Given the description of an element on the screen output the (x, y) to click on. 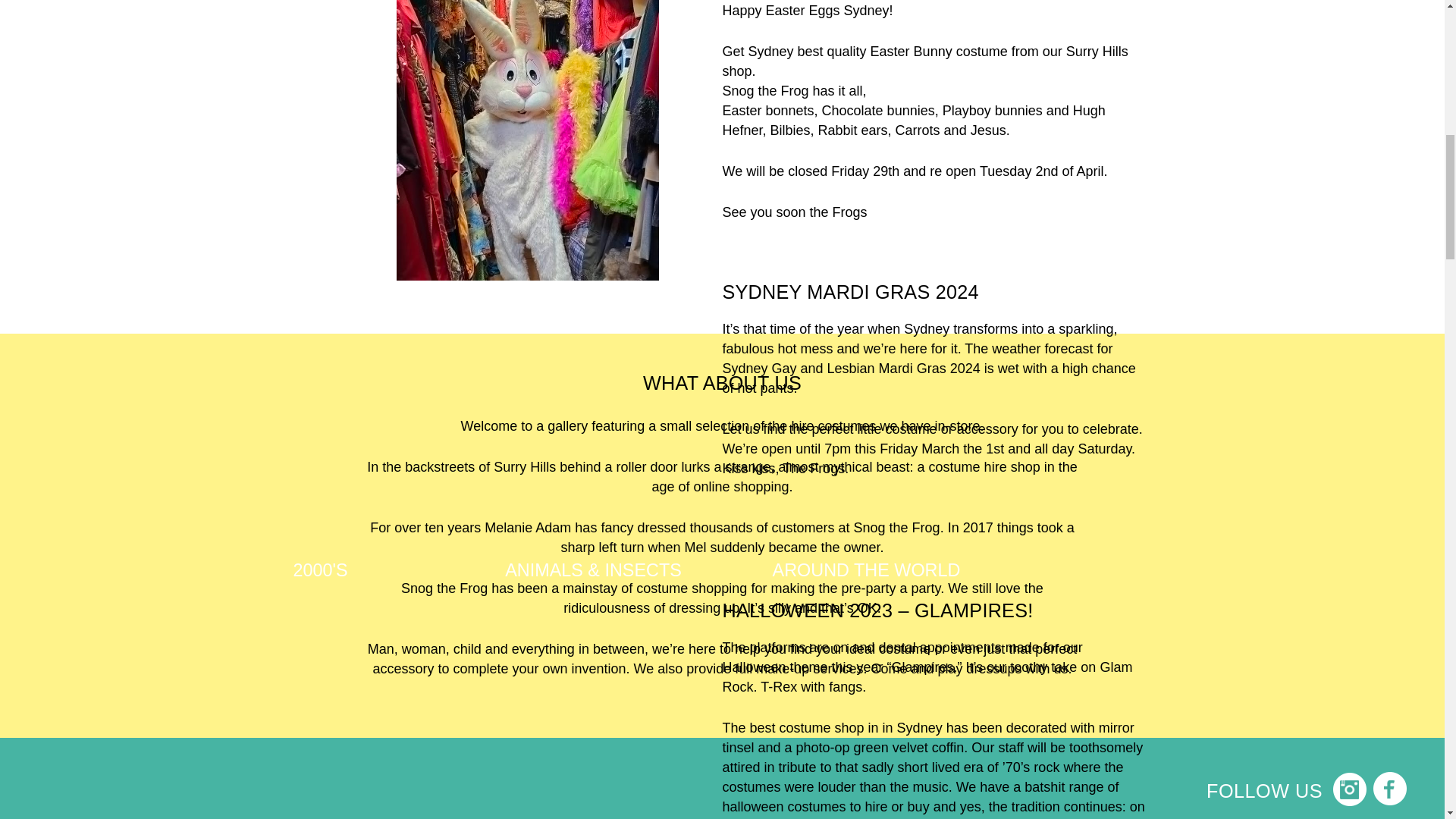
View Book Week costumes (866, 705)
BOOK WEEK (866, 705)
View 1990's costumes (866, 121)
1970'S (320, 121)
1980'S (593, 121)
View 1980's costumes (593, 121)
View 1970's costumes (320, 121)
1990'S (866, 121)
AUSTRALIAN (320, 705)
View Australian costumes (320, 705)
